Given the description of an element on the screen output the (x, y) to click on. 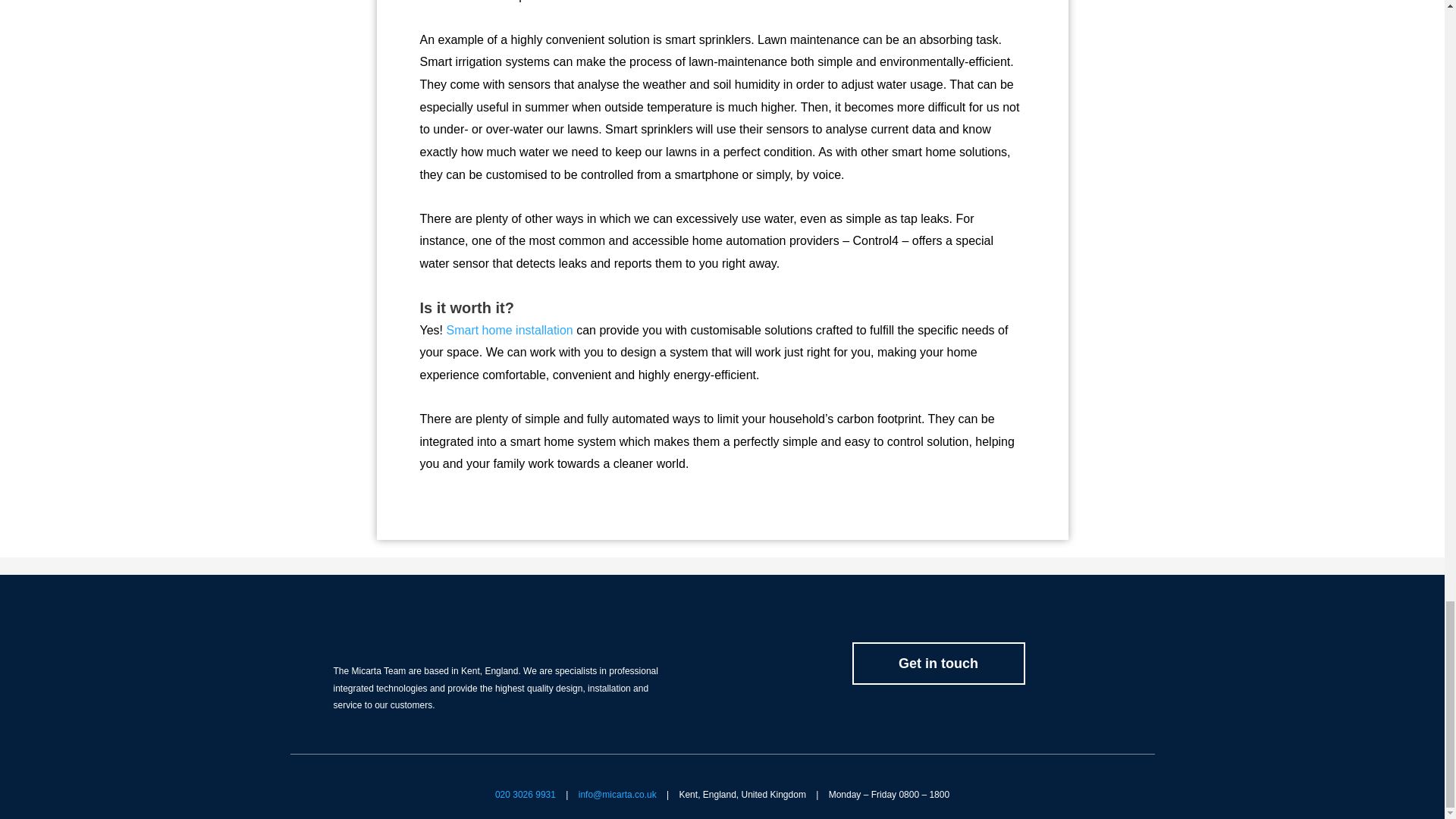
Get in touch (938, 663)
020 3026 9931 (525, 794)
Smart home installation (508, 329)
